Given the description of an element on the screen output the (x, y) to click on. 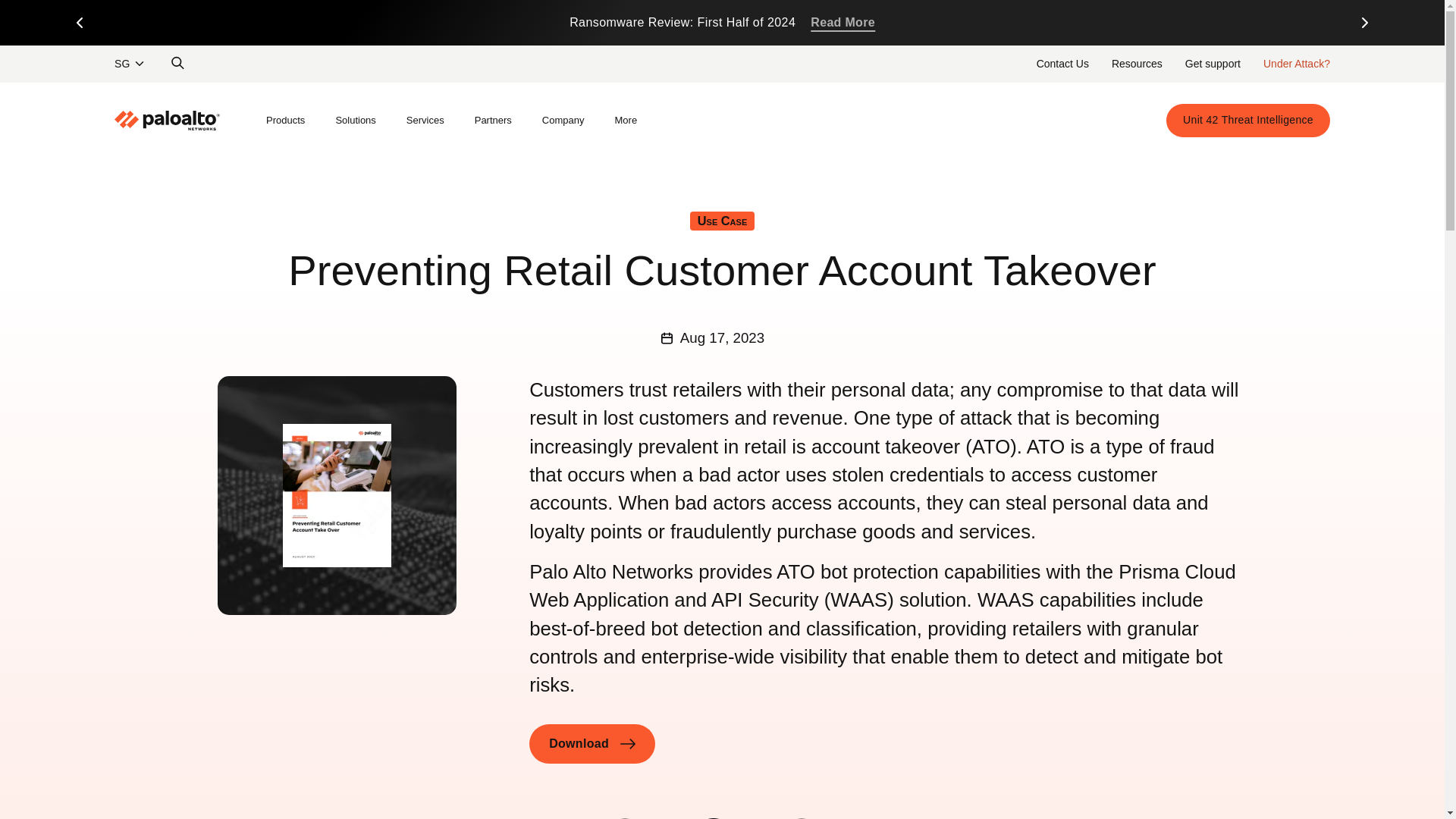
Products (285, 120)
Read More (842, 22)
Get support (1212, 63)
Under Attack? (1296, 63)
Resources (722, 22)
Contact Us (1136, 63)
SG (1062, 63)
